Given the description of an element on the screen output the (x, y) to click on. 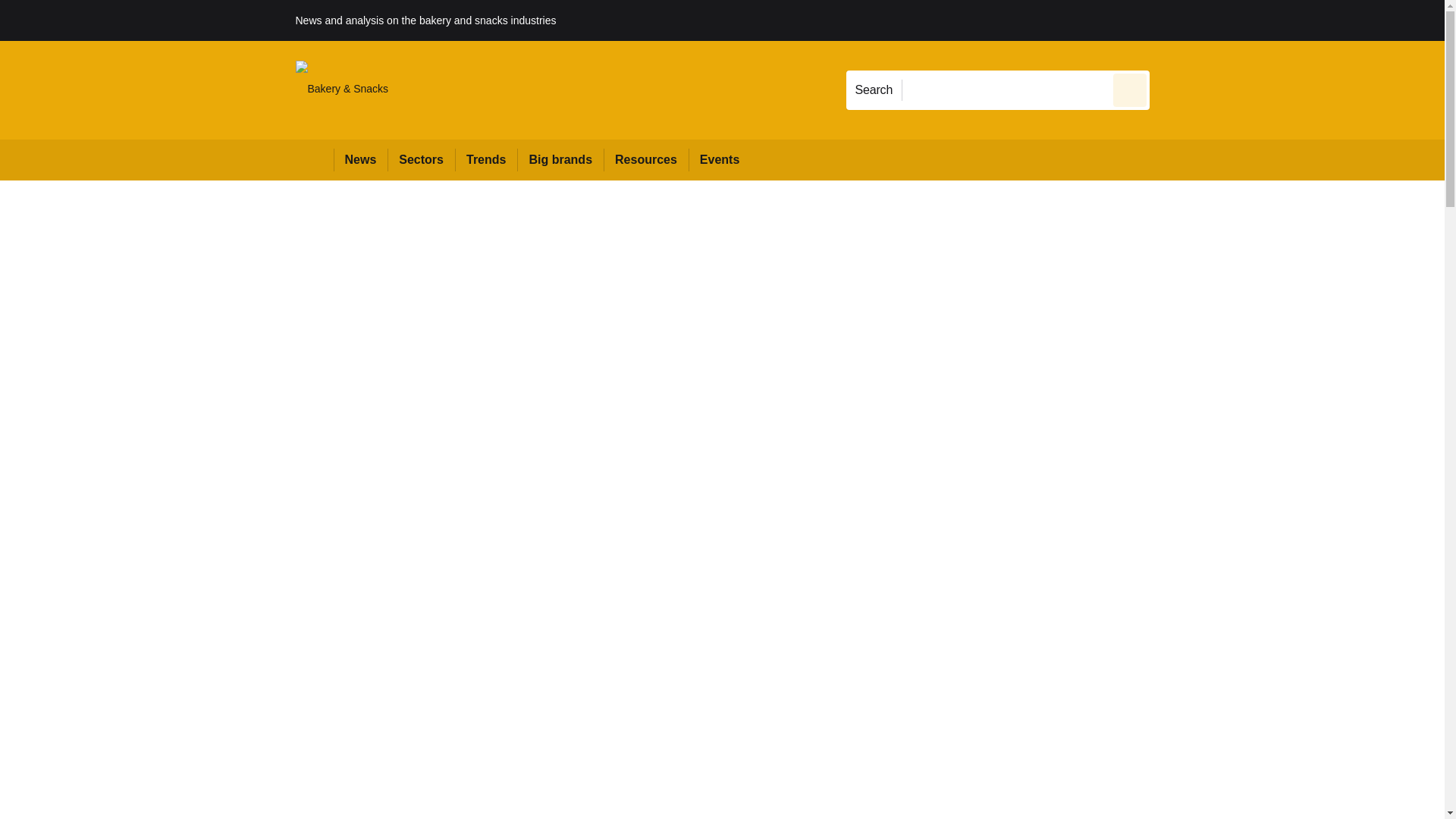
News (360, 159)
Send (1129, 89)
Sectors (420, 159)
Sign out (1174, 20)
Home (313, 159)
Home (314, 159)
REGISTER (1250, 20)
My account (1256, 20)
Sign in (1171, 20)
Send (1129, 90)
